Given the description of an element on the screen output the (x, y) to click on. 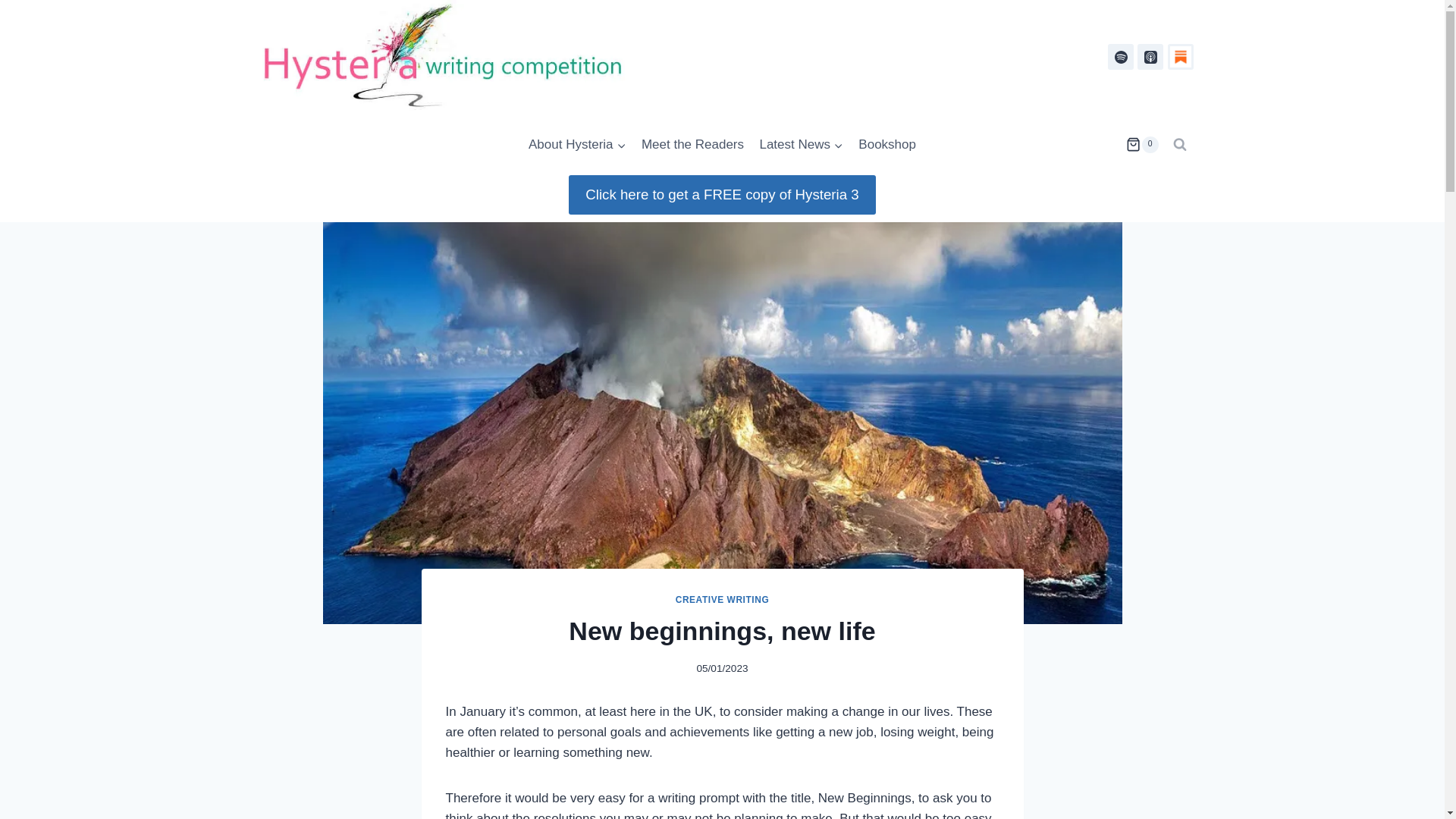
Latest News (800, 144)
Click here to get a FREE copy of Hysteria 3 (722, 194)
Meet the Readers (692, 144)
0 (1141, 144)
About Hysteria (577, 144)
CREATIVE WRITING (722, 599)
Bookshop (886, 144)
